Given the description of an element on the screen output the (x, y) to click on. 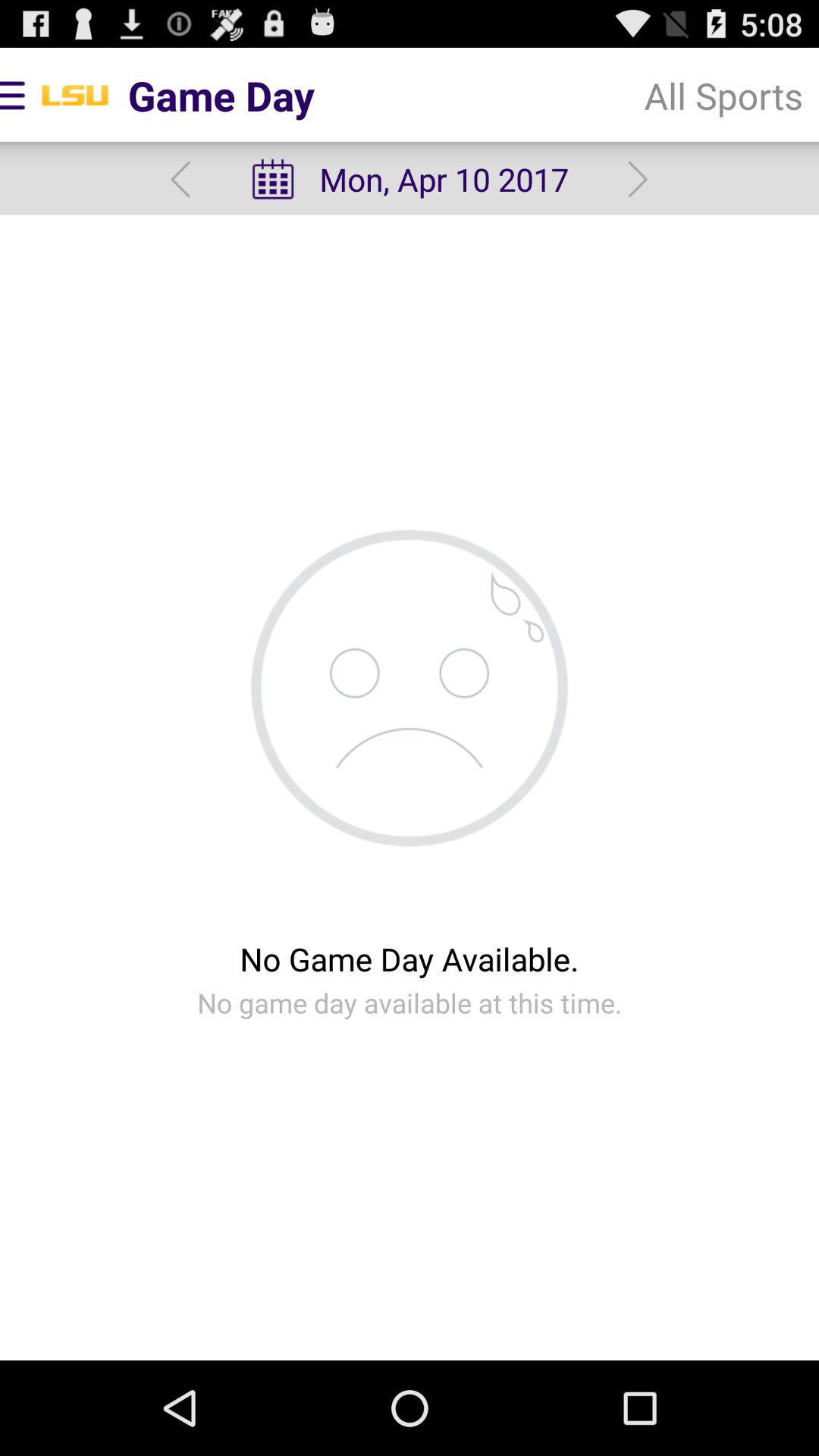
previous page (180, 178)
